Given the description of an element on the screen output the (x, y) to click on. 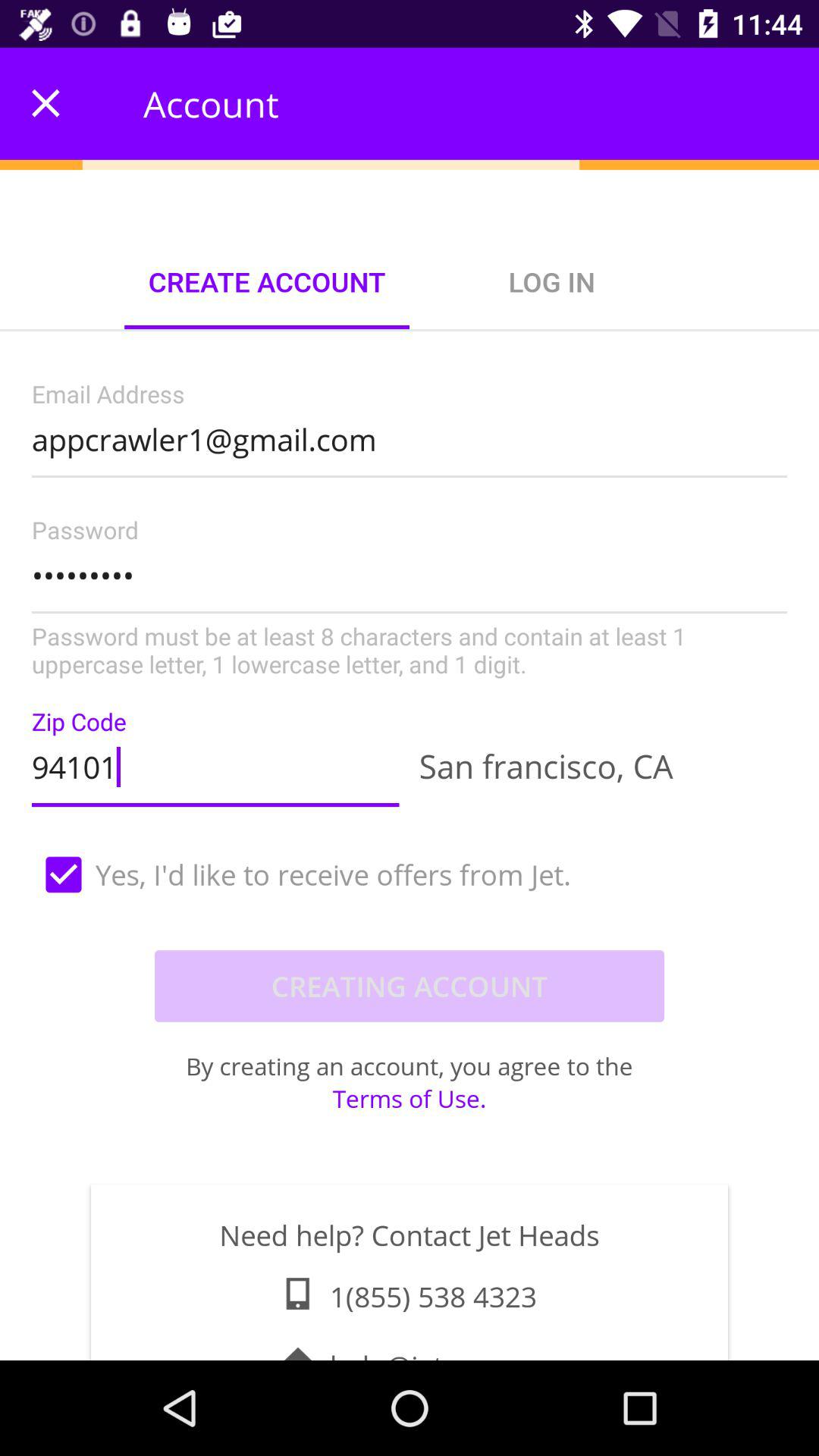
flip until crowd3116 item (409, 599)
